Given the description of an element on the screen output the (x, y) to click on. 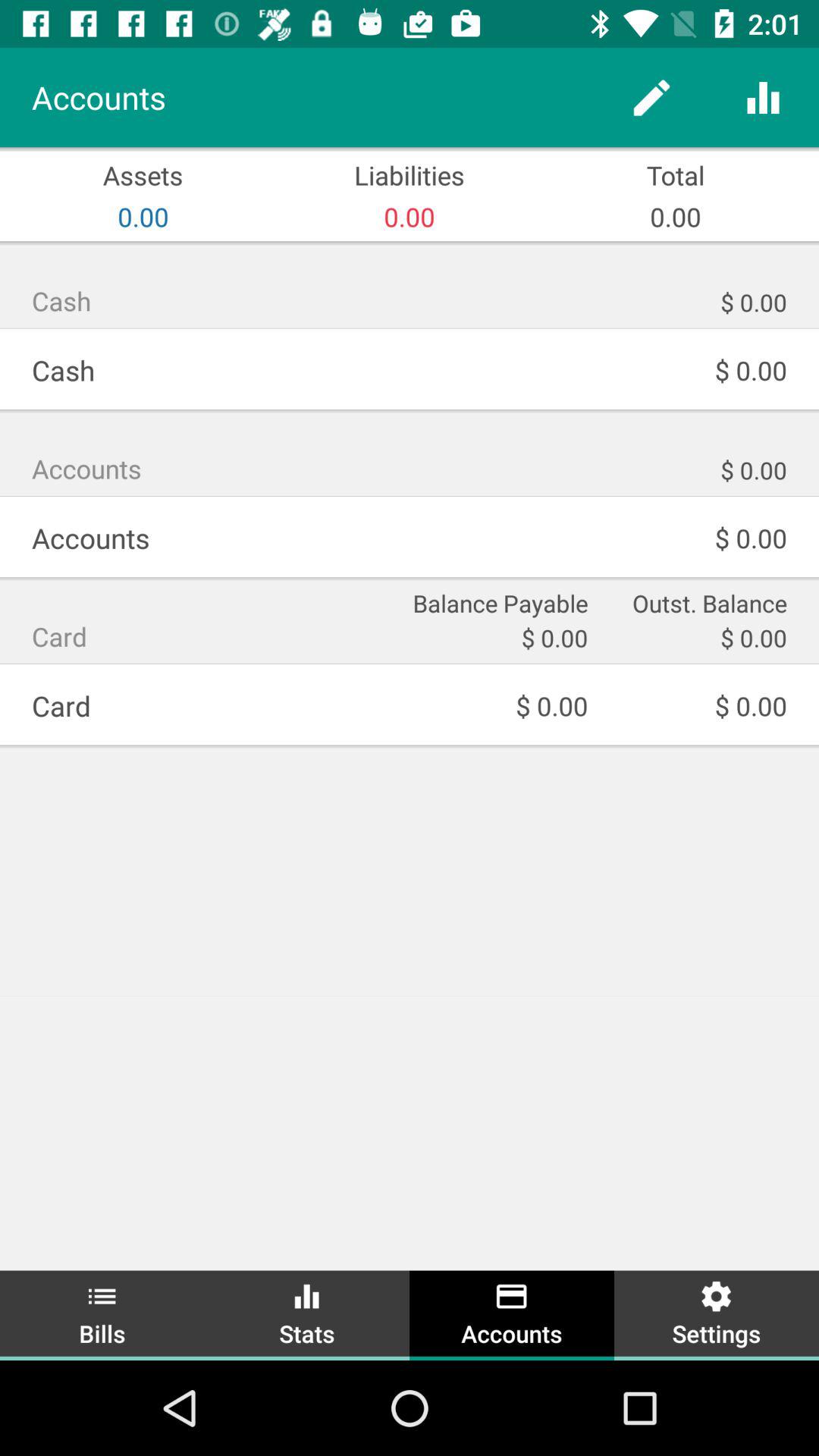
press the item below the $ 0.00 item (716, 1313)
